Given the description of an element on the screen output the (x, y) to click on. 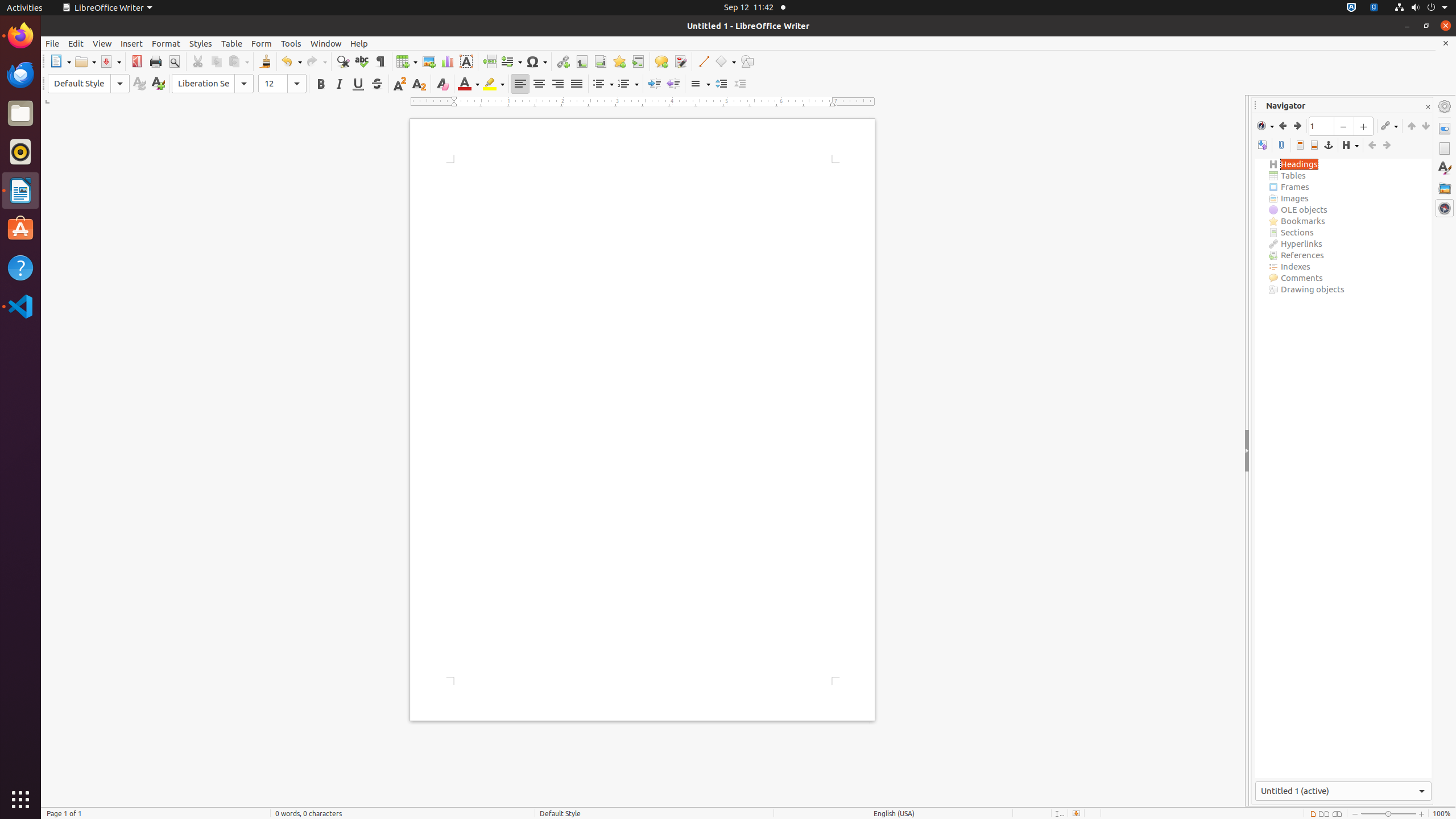
Content Navigation View Element type: push-button (1262, 144)
Content Navigation View Element type: tree (1343, 468)
Cross-reference Element type: push-button (637, 61)
Anchor<->Text Element type: push-button (1328, 144)
Styles Element type: menu (200, 43)
